Given the description of an element on the screen output the (x, y) to click on. 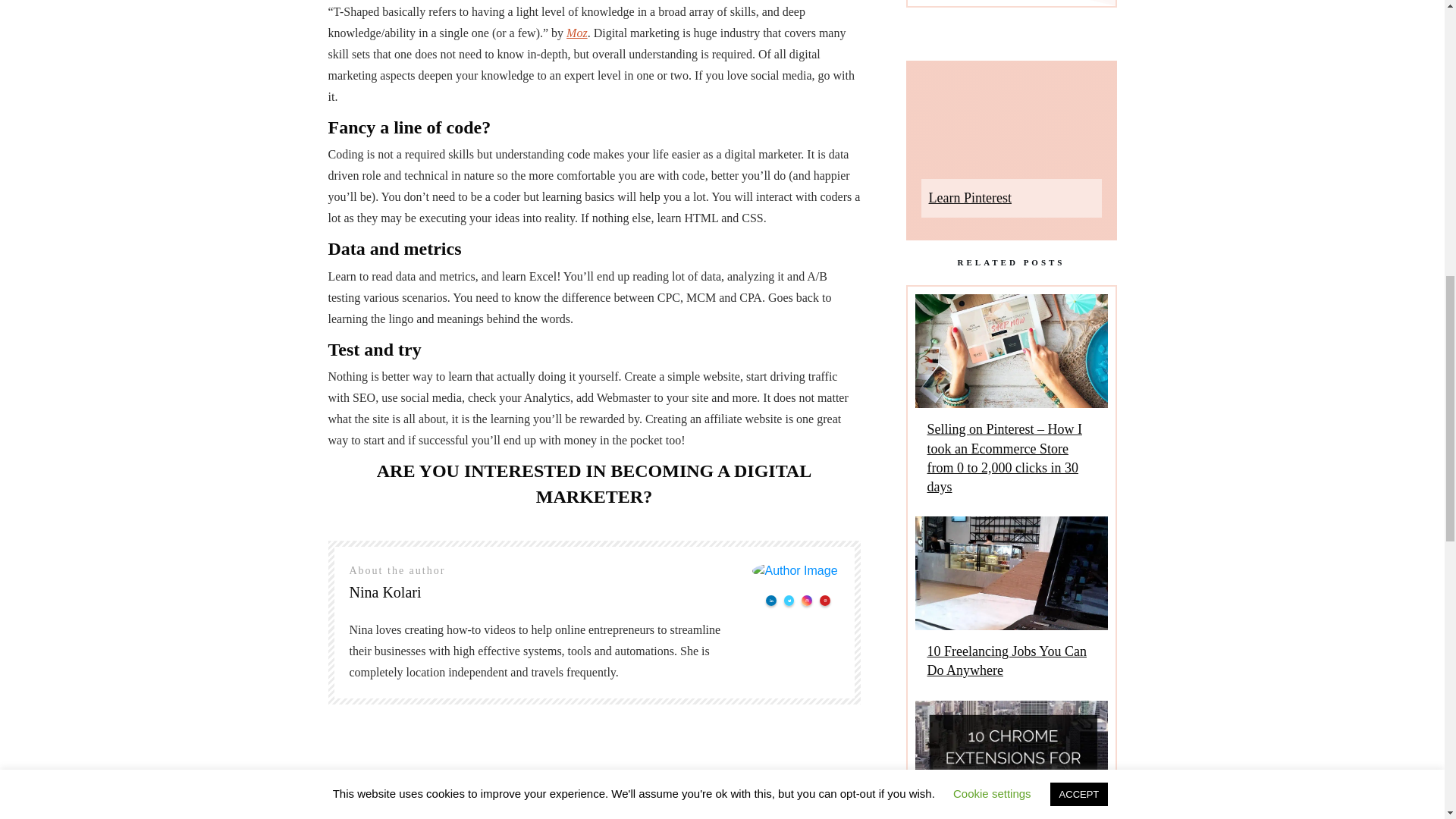
10 Freelancing Jobs You Can Do Anywhere (1006, 660)
10 Freelancing Jobs You Can Do Anywhere (1010, 604)
Moz (577, 32)
Learn Pinterest (969, 197)
10 Must-Have Chrome Extensions for Entrepreneurs (1010, 760)
10 Freelancing Jobs You Can Do Anywhere (1006, 660)
